Given the description of an element on the screen output the (x, y) to click on. 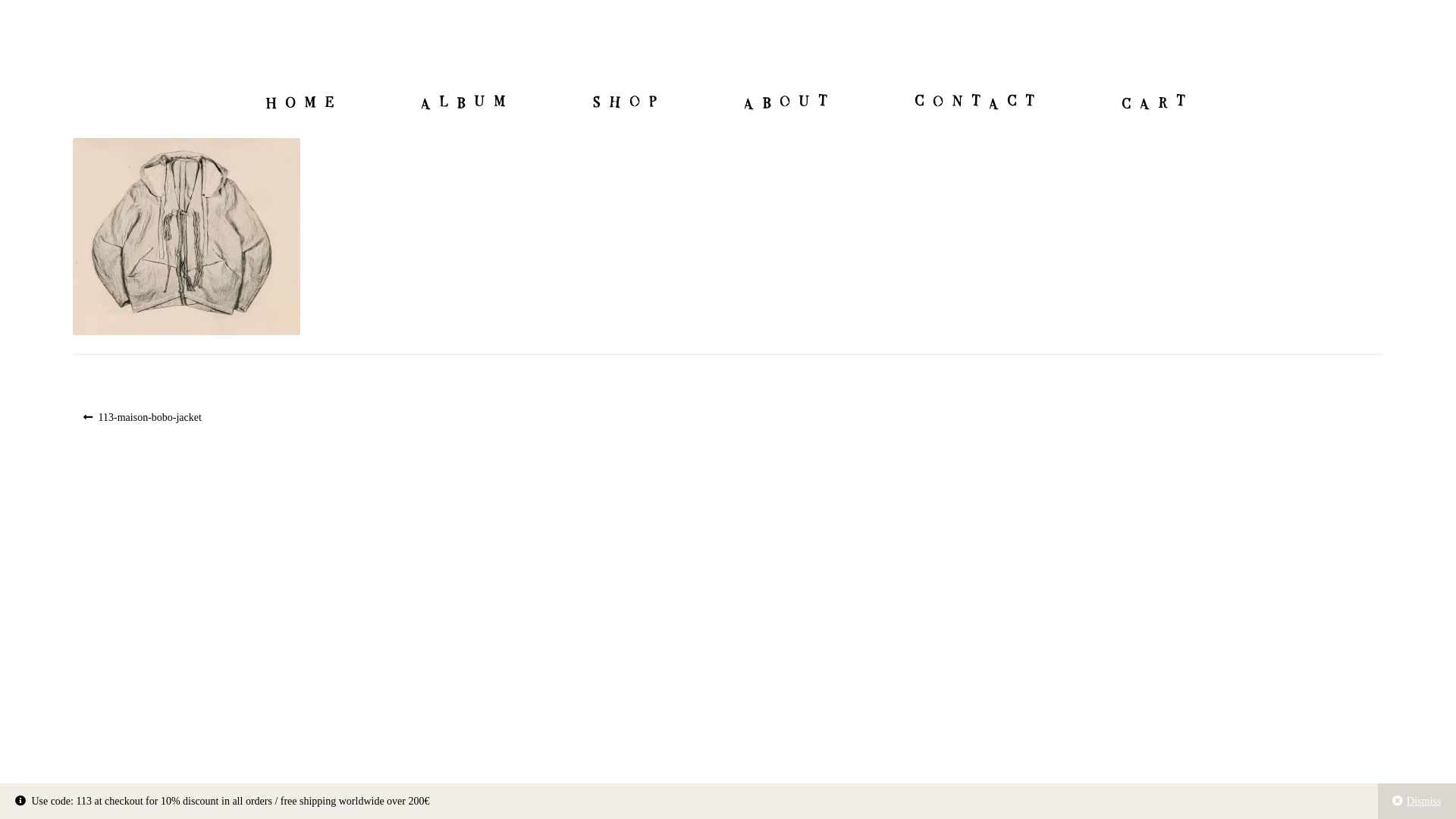
Shop Element type: text (627, 102)
contact Element type: text (976, 102)
album Element type: text (465, 102)
Cart Element type: text (1155, 102)
about Element type: text (788, 102)
Previous post:
113-maison-bobo-jacket Element type: text (142, 416)
HOME Element type: text (302, 102)
